Given the description of an element on the screen output the (x, y) to click on. 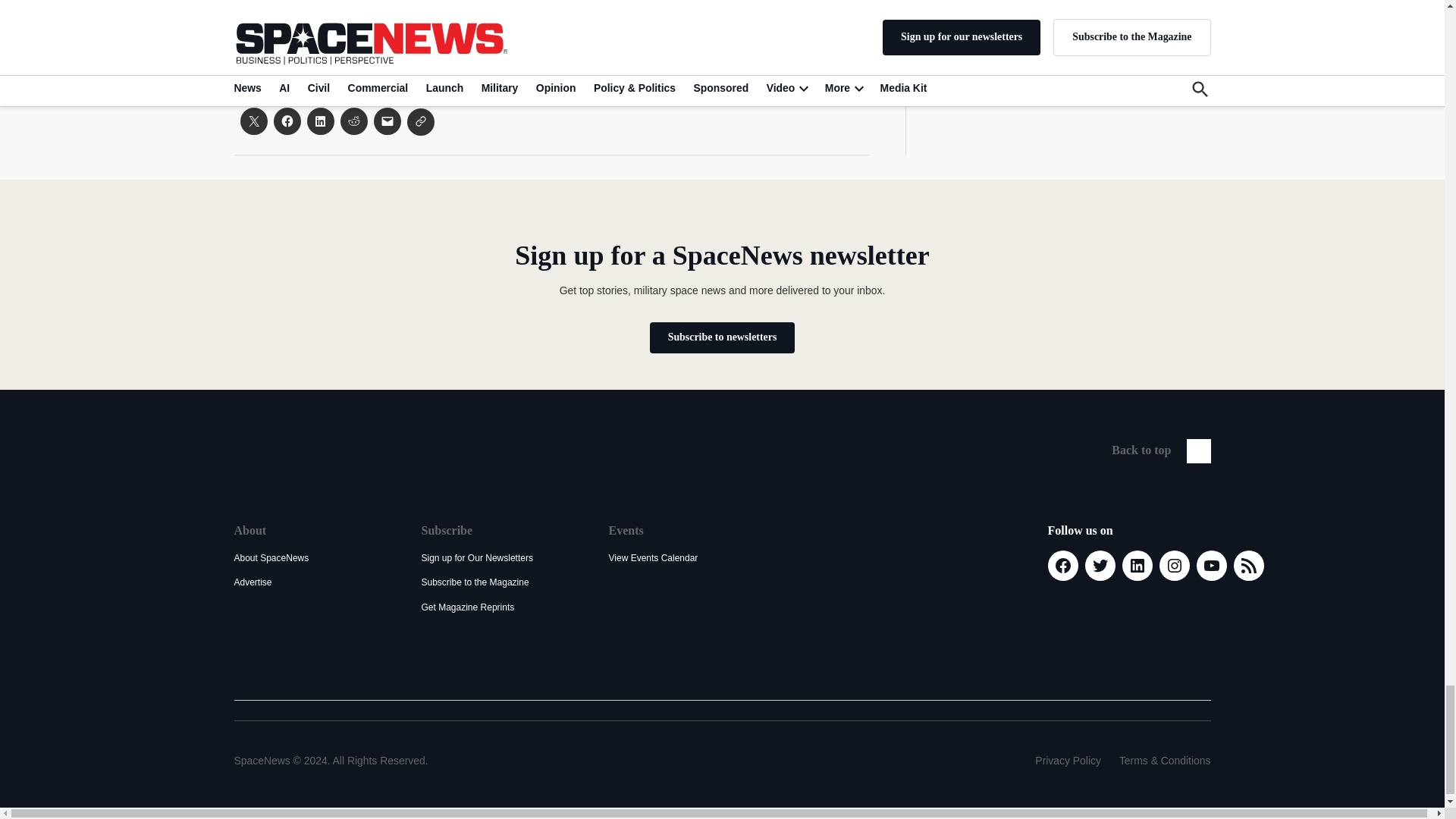
Click to share on LinkedIn (319, 120)
Click to email a link to a friend (386, 120)
Click to share on Facebook (286, 120)
Click to share on X (253, 120)
Click to share on Clipboard (419, 121)
Click to share on Reddit (352, 120)
